Given the description of an element on the screen output the (x, y) to click on. 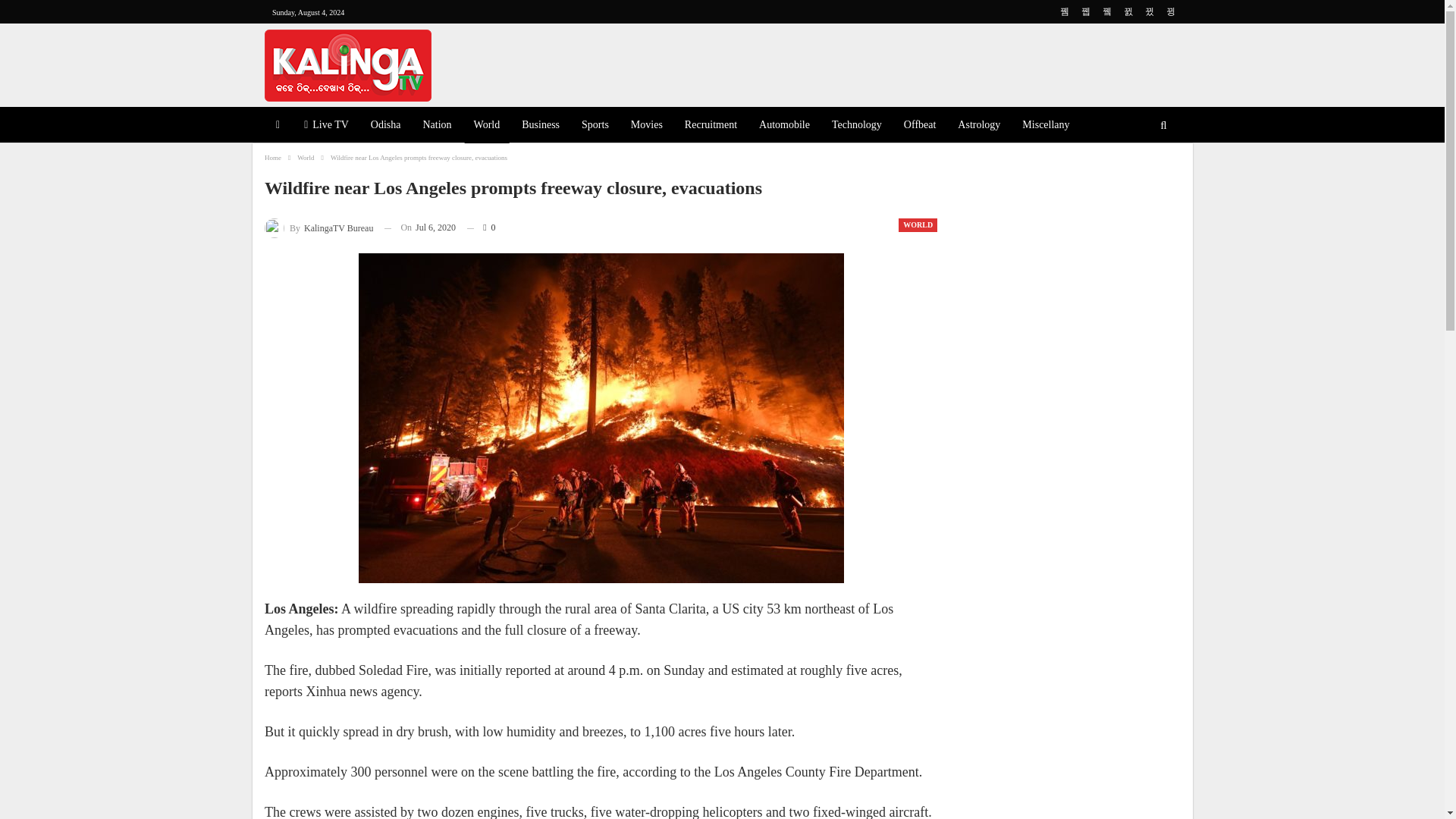
Nation (437, 126)
Advertisement (877, 61)
Miscellany (1045, 126)
Technology (856, 126)
Home (272, 157)
Sports (594, 126)
Odisha (385, 126)
Astrology (979, 126)
Recruitment (710, 126)
WORLD (917, 224)
Offbeat (919, 126)
0 (481, 227)
By KalingaTV Bureau (318, 227)
Business (540, 126)
Live TV (326, 126)
